Given the description of an element on the screen output the (x, y) to click on. 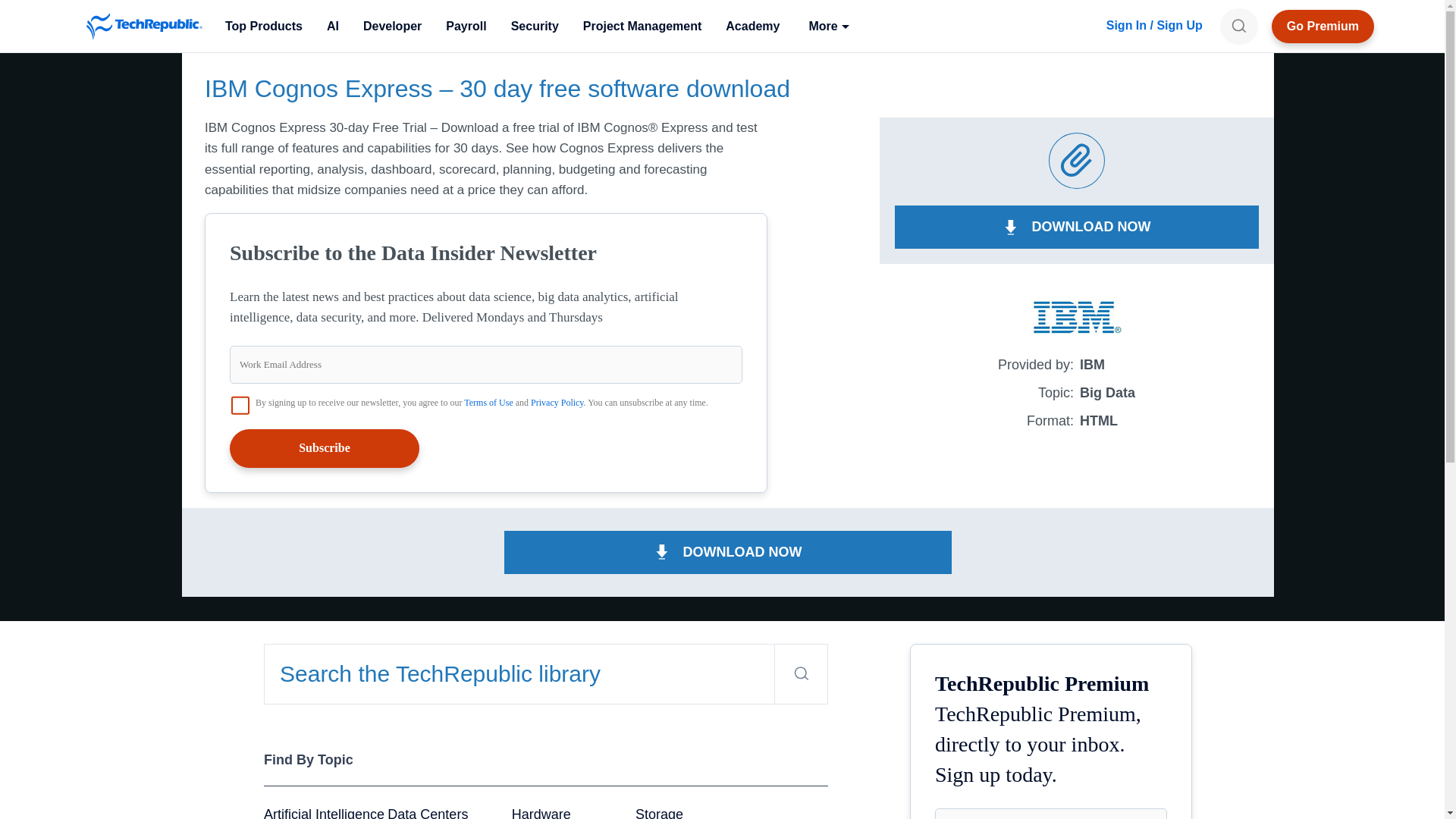
Academy (752, 26)
TechRepublic (143, 25)
TechRepublic (143, 25)
Top Products (263, 26)
Payroll (465, 26)
Subscribe (324, 447)
Project Management (641, 26)
Privacy Policy (557, 402)
on (239, 405)
Developer (392, 26)
